Given the description of an element on the screen output the (x, y) to click on. 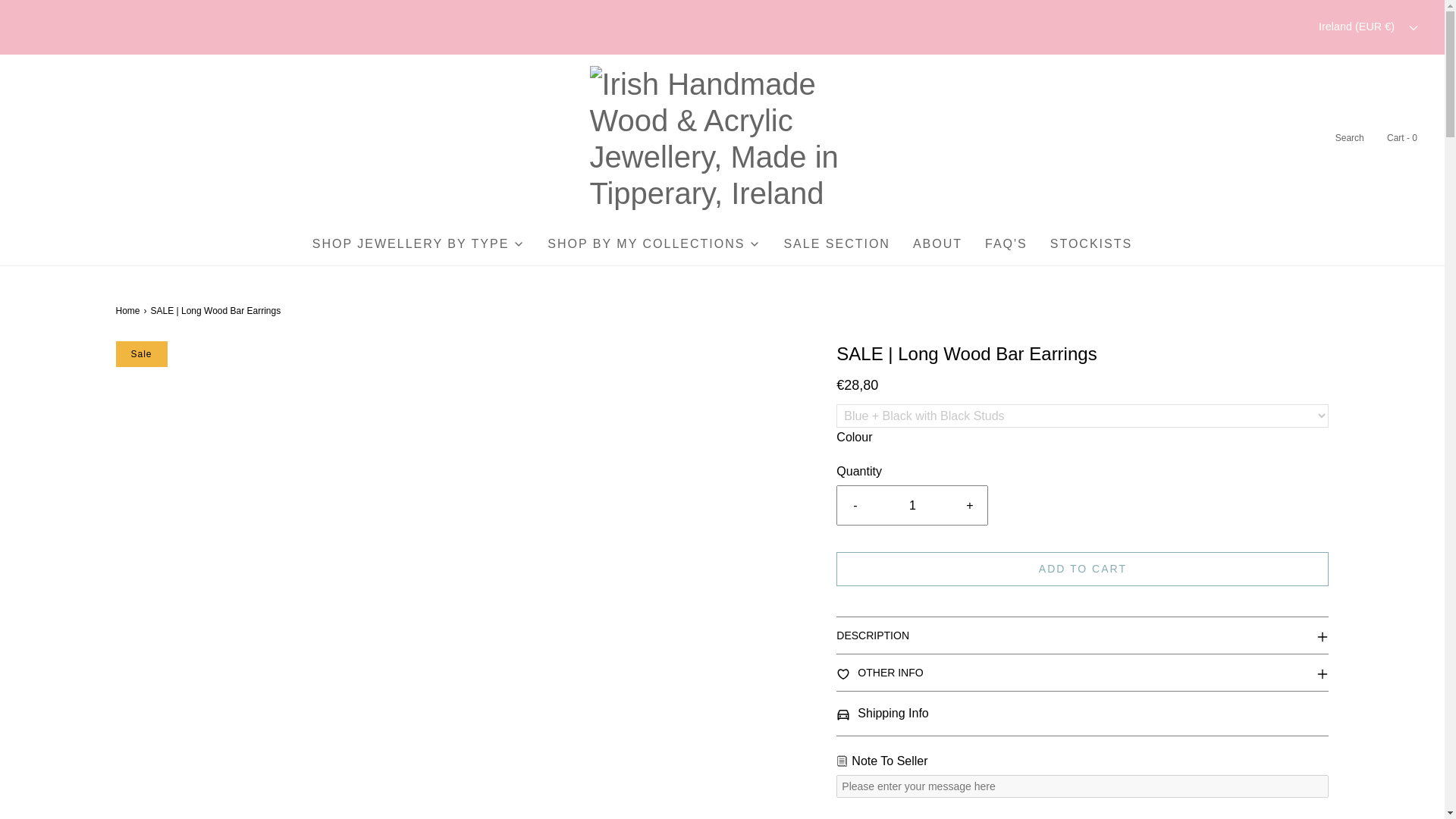
Search (1347, 138)
1 (911, 505)
Back to the frontpage (128, 310)
SHOP JEWELLERY BY TYPE (419, 243)
Cart - 0 (1401, 138)
Cart (1401, 138)
Search (1347, 138)
